Given the description of an element on the screen output the (x, y) to click on. 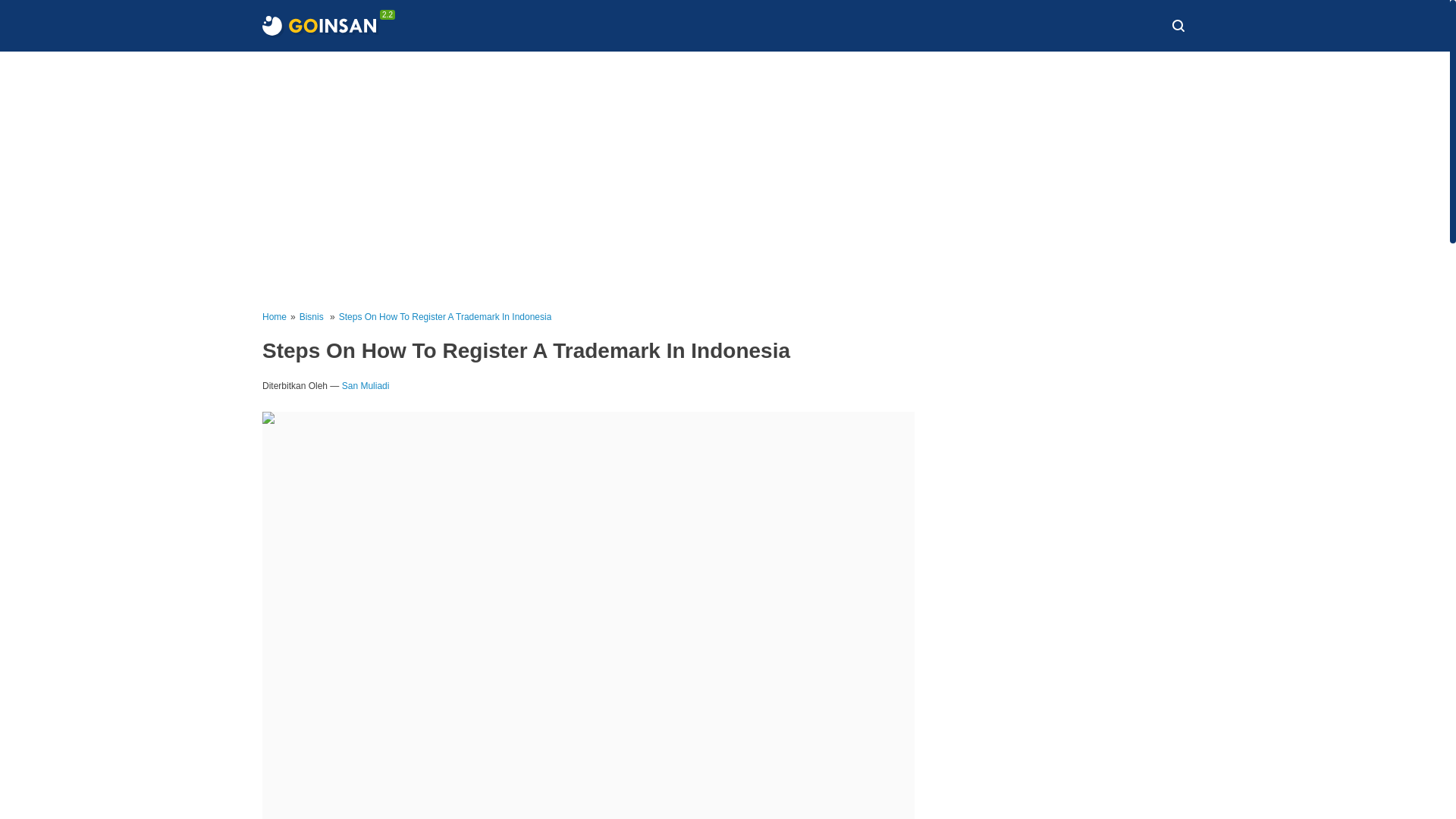
Goinsan (318, 25)
San Muliadi (366, 385)
Goinsan (318, 25)
Goinsan (318, 25)
Bisnis (312, 317)
Home (274, 317)
Steps On How To Register A Trademark In Indonesia (445, 317)
